Given the description of an element on the screen output the (x, y) to click on. 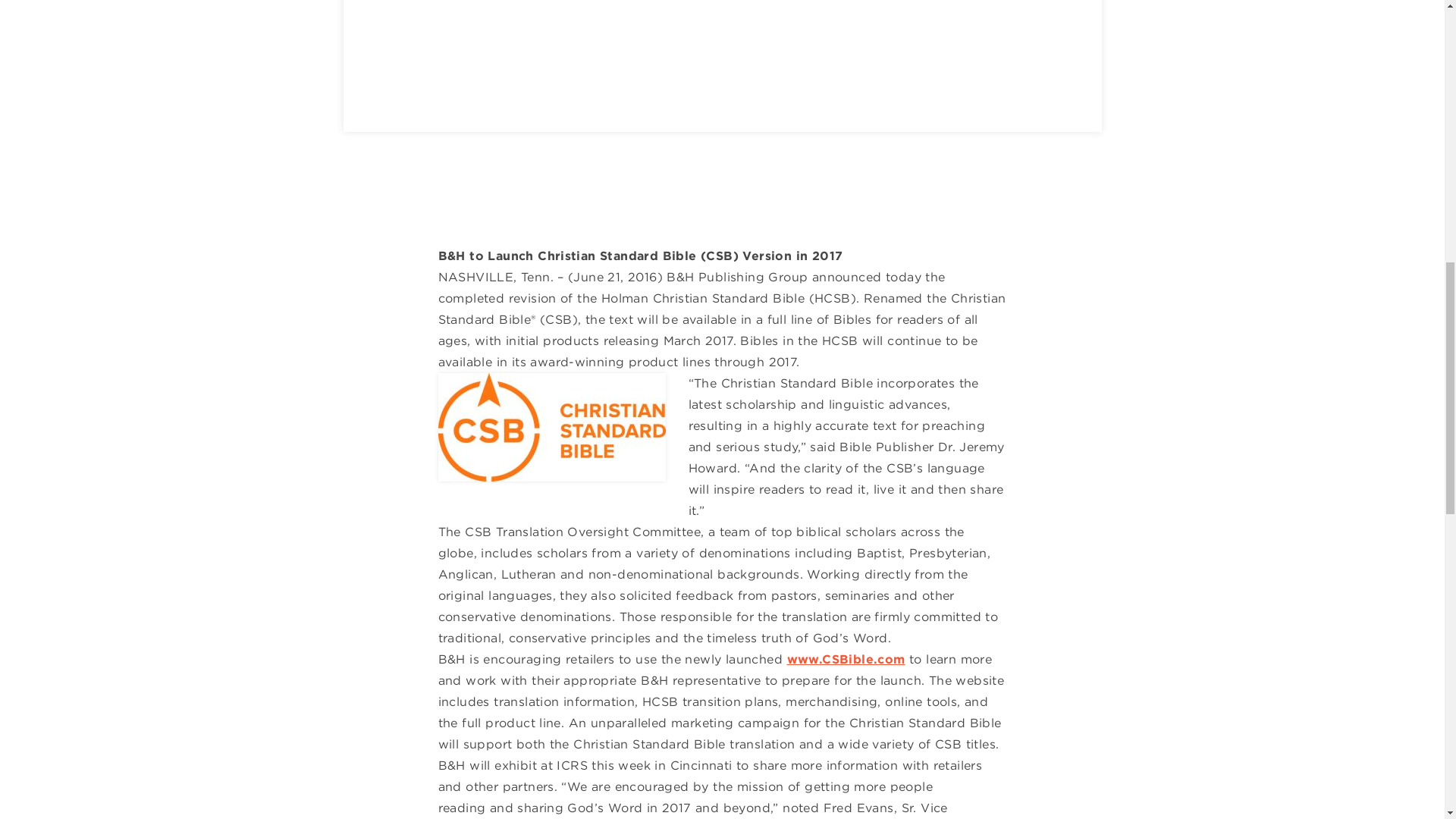
www.CSBible.com (846, 658)
